Given the description of an element on the screen output the (x, y) to click on. 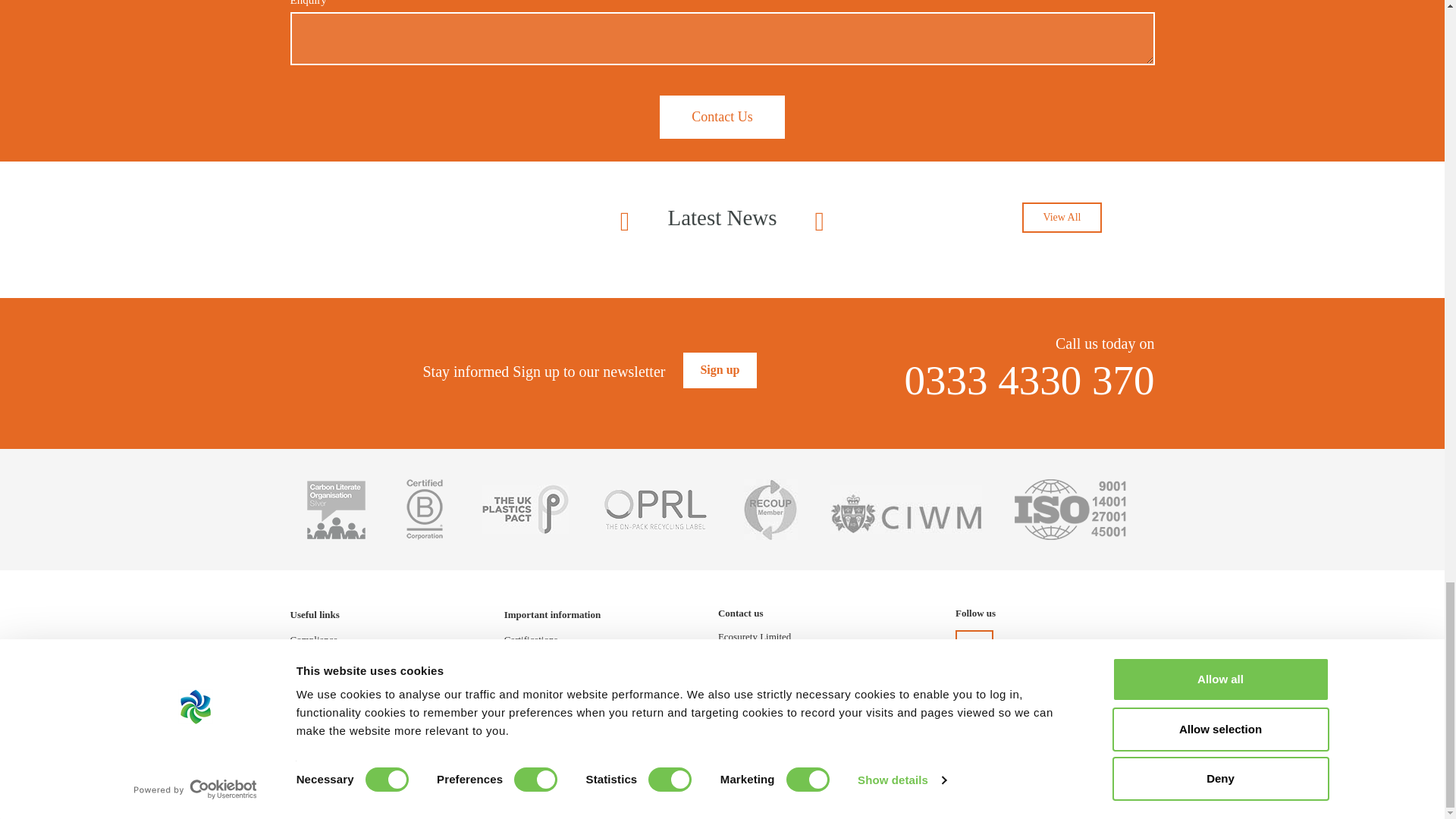
Contact Us (721, 117)
